Given the description of an element on the screen output the (x, y) to click on. 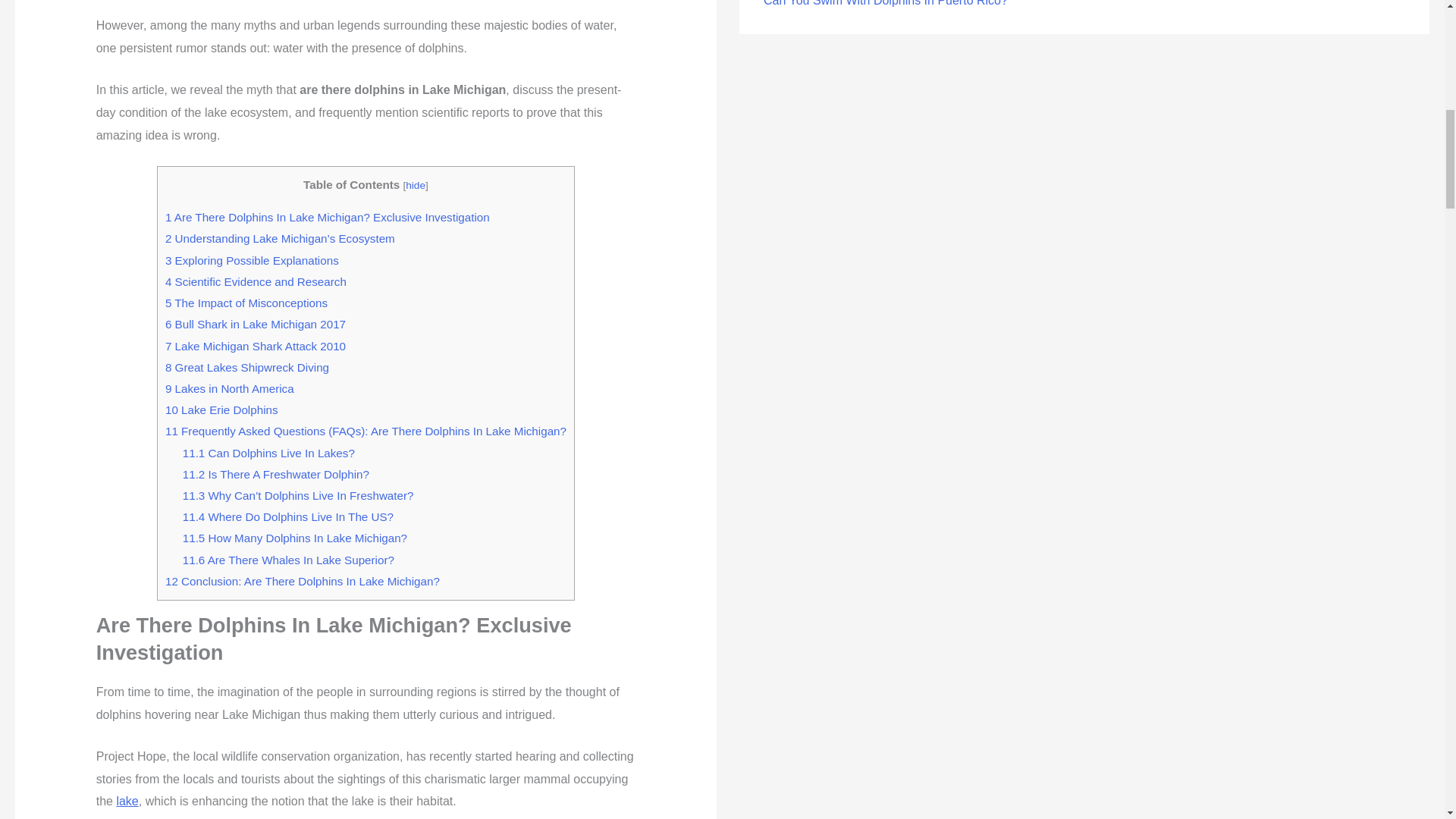
8 Great Lakes Shipwreck Diving (247, 367)
3 Exploring Possible Explanations (252, 259)
10 Lake Erie Dolphins (221, 409)
5 The Impact of Misconceptions (246, 302)
7 Lake Michigan Shark Attack 2010 (255, 345)
9 Lakes in North America (229, 388)
hide (415, 184)
6 Bull Shark in Lake Michigan 2017 (255, 323)
4 Scientific Evidence and Research (255, 281)
